Given the description of an element on the screen output the (x, y) to click on. 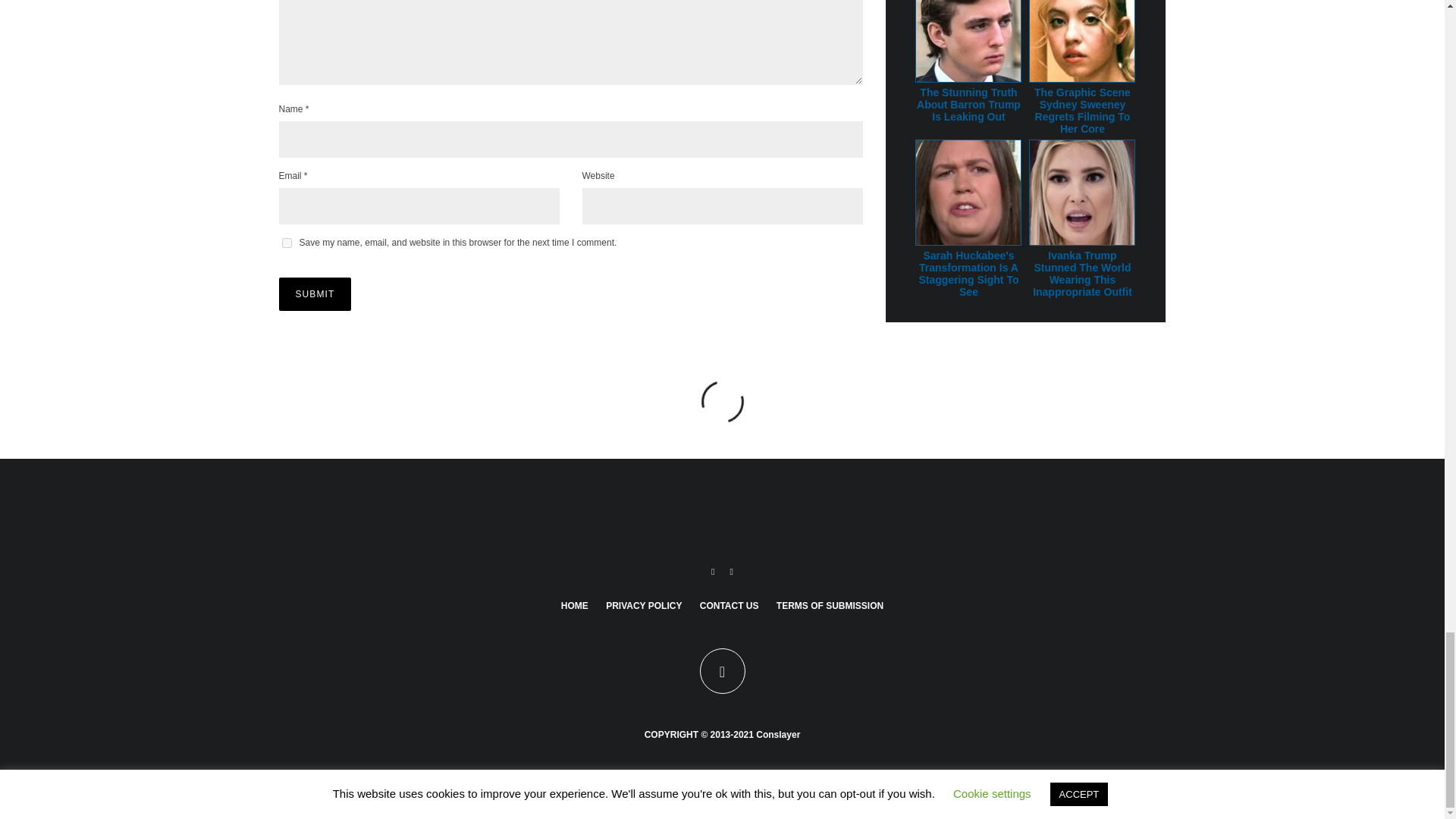
Submit (315, 294)
yes (287, 243)
